Given the description of an element on the screen output the (x, y) to click on. 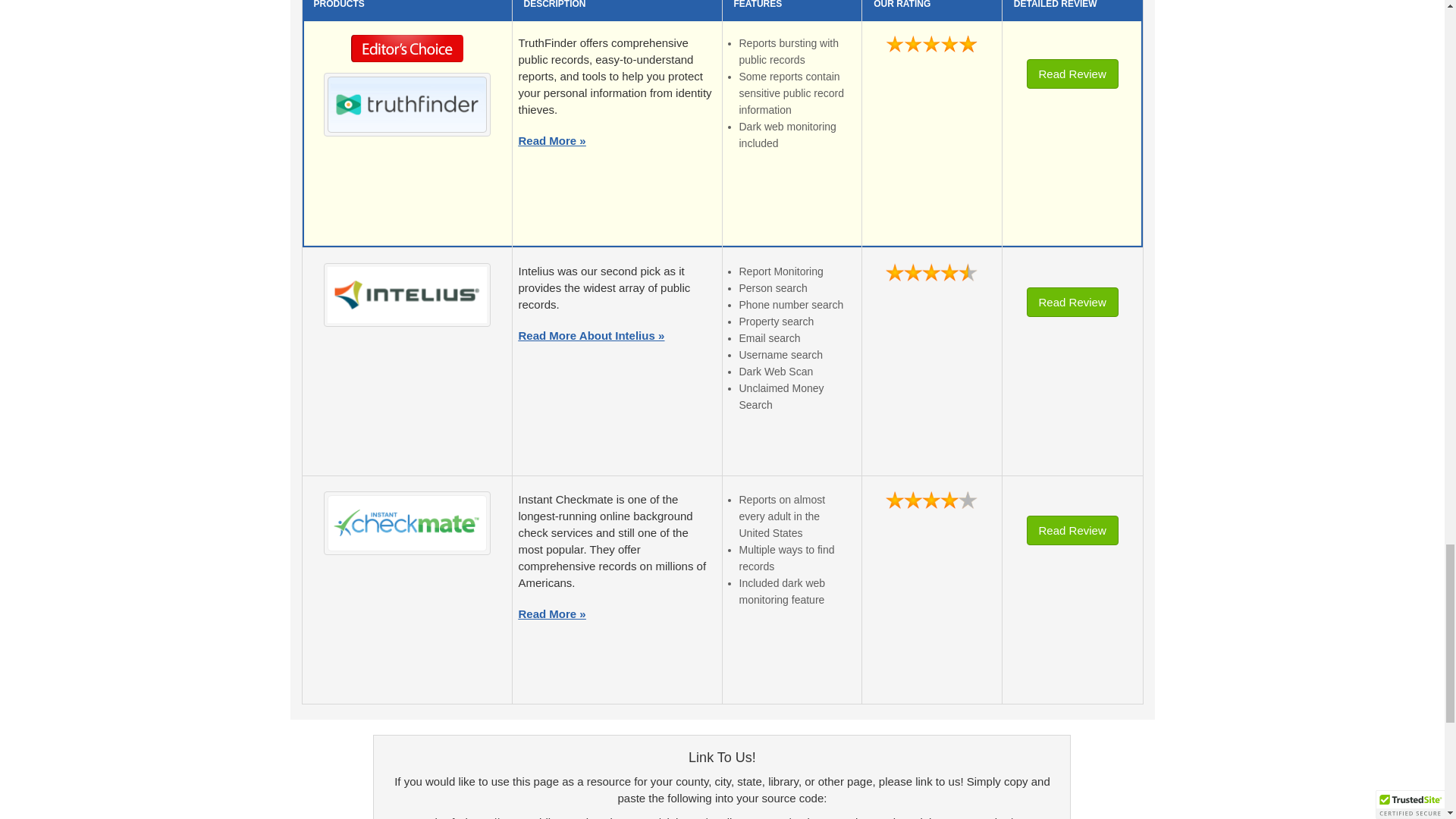
Intelius (406, 294)
TruthFinder (406, 104)
Editors Choice (407, 52)
Instant Checkmate (406, 523)
